Given the description of an element on the screen output the (x, y) to click on. 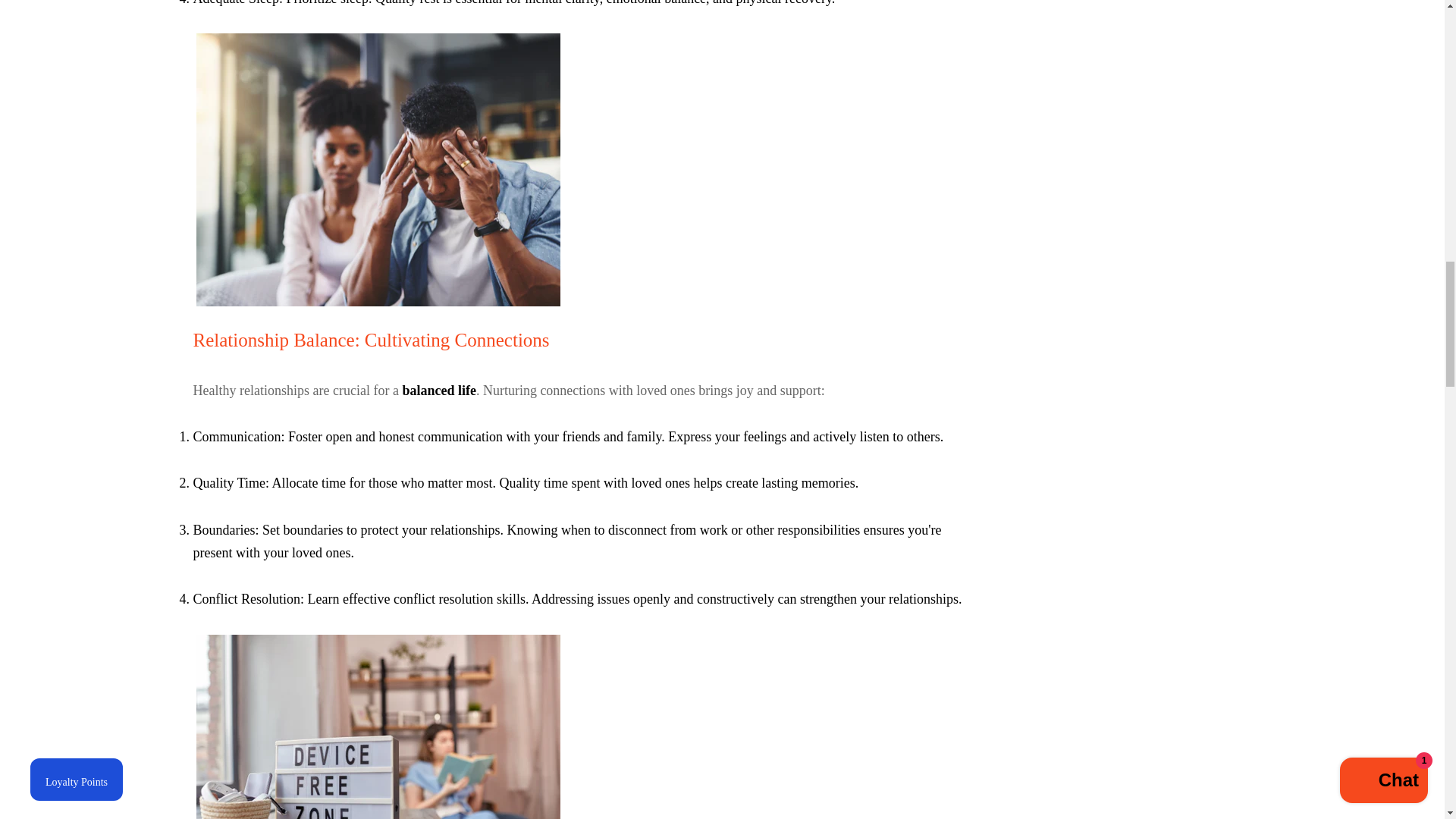
balanced life (438, 390)
